Given the description of an element on the screen output the (x, y) to click on. 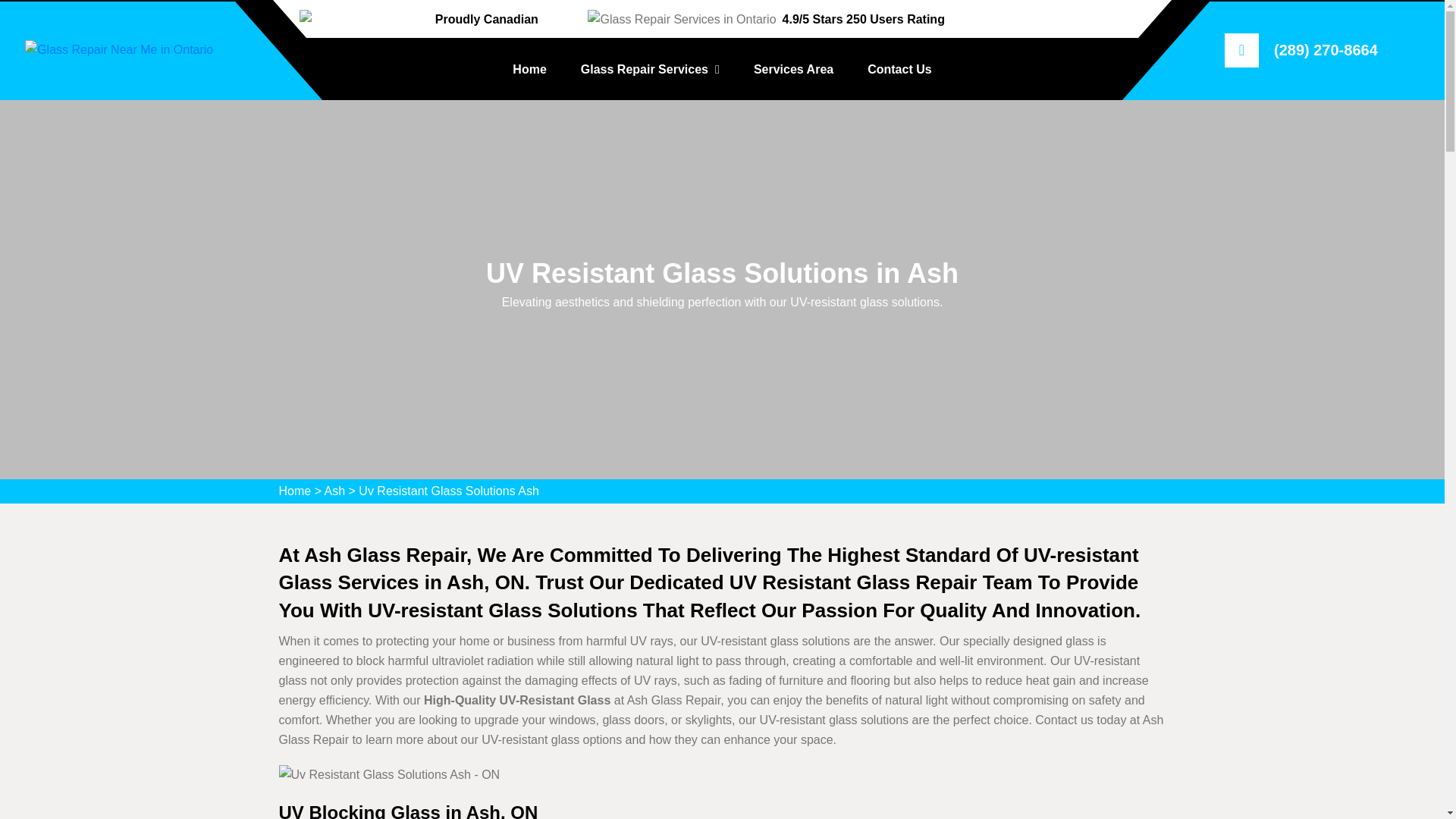
Glass Repair Services (649, 69)
